Given the description of an element on the screen output the (x, y) to click on. 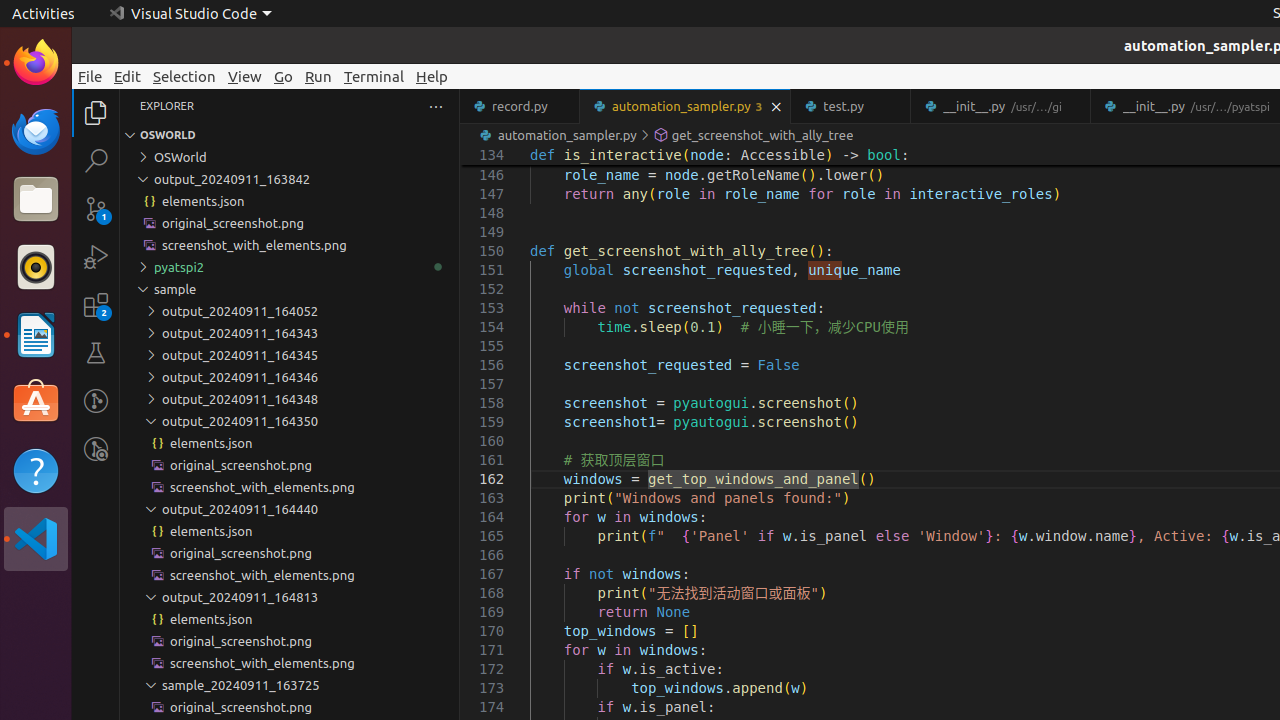
Run Element type: push-button (318, 76)
output_20240911_164813 Element type: tree-item (289, 597)
Search (Ctrl+Shift+F) Element type: page-tab (96, 160)
